Given the description of an element on the screen output the (x, y) to click on. 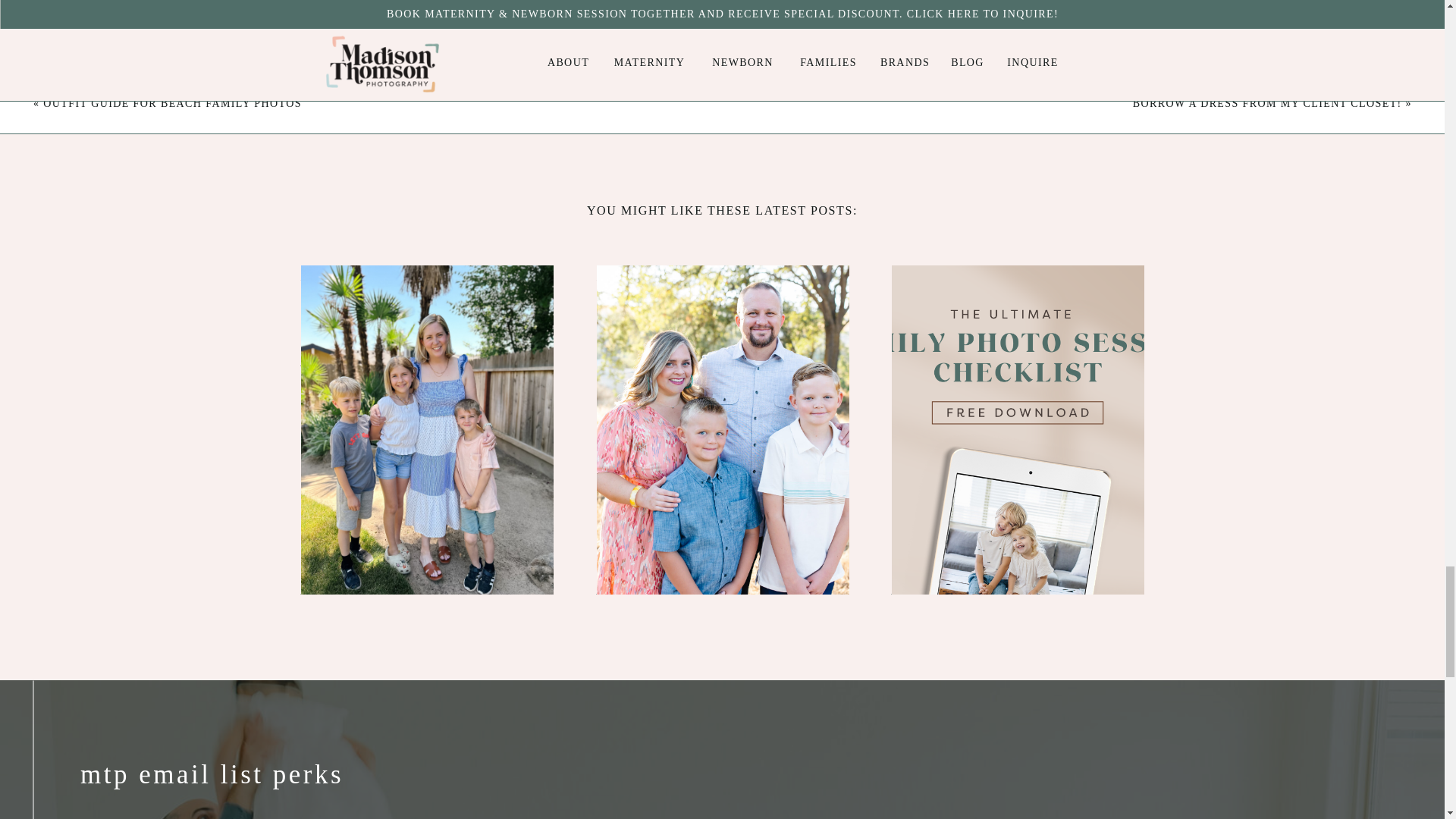
UNCATEGORIZED (351, 283)
FEATURED POSTS (647, 283)
BORROW A DRESS FROM MY CLIENT CLOSET! (1267, 102)
4 EASY TIPS FOR TAKING PHOTOS WITH YOUR KIDS (408, 345)
OUTFIT GUIDE FOR BEACH FAMILY PHOTOS (172, 102)
5 PLUS SIZE FALL PHOTO OUTFITS 2023 FOR THE CONFIDENT MOM (706, 360)
